Given the description of an element on the screen output the (x, y) to click on. 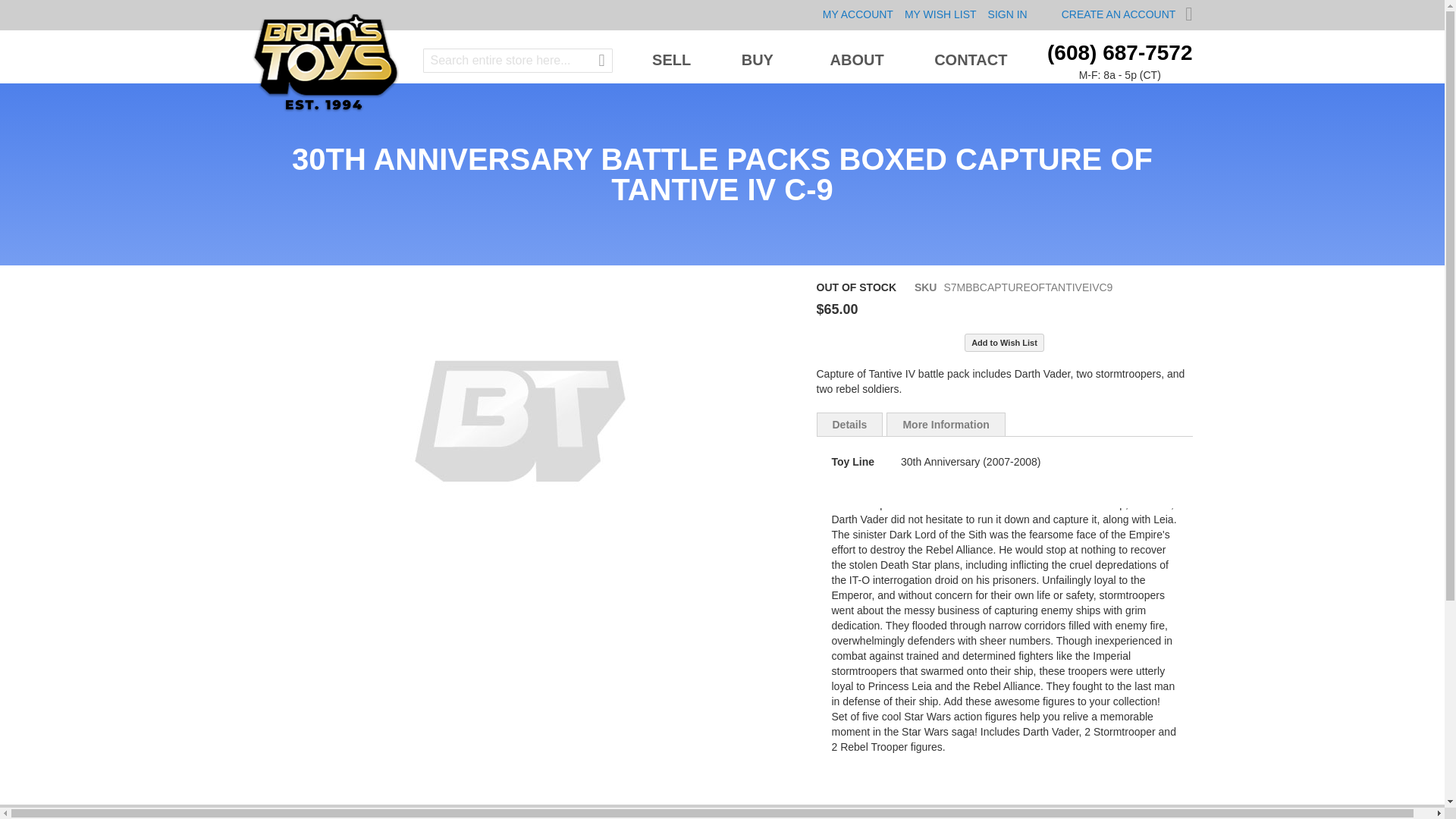
SIGN IN (1007, 14)
MY ACCOUNT (857, 14)
MY WISH LIST (940, 14)
Brian's Toys (324, 62)
CREATE AN ACCOUNT (1118, 14)
SELL (671, 60)
BUY (760, 60)
Availability (855, 287)
